Given the description of an element on the screen output the (x, y) to click on. 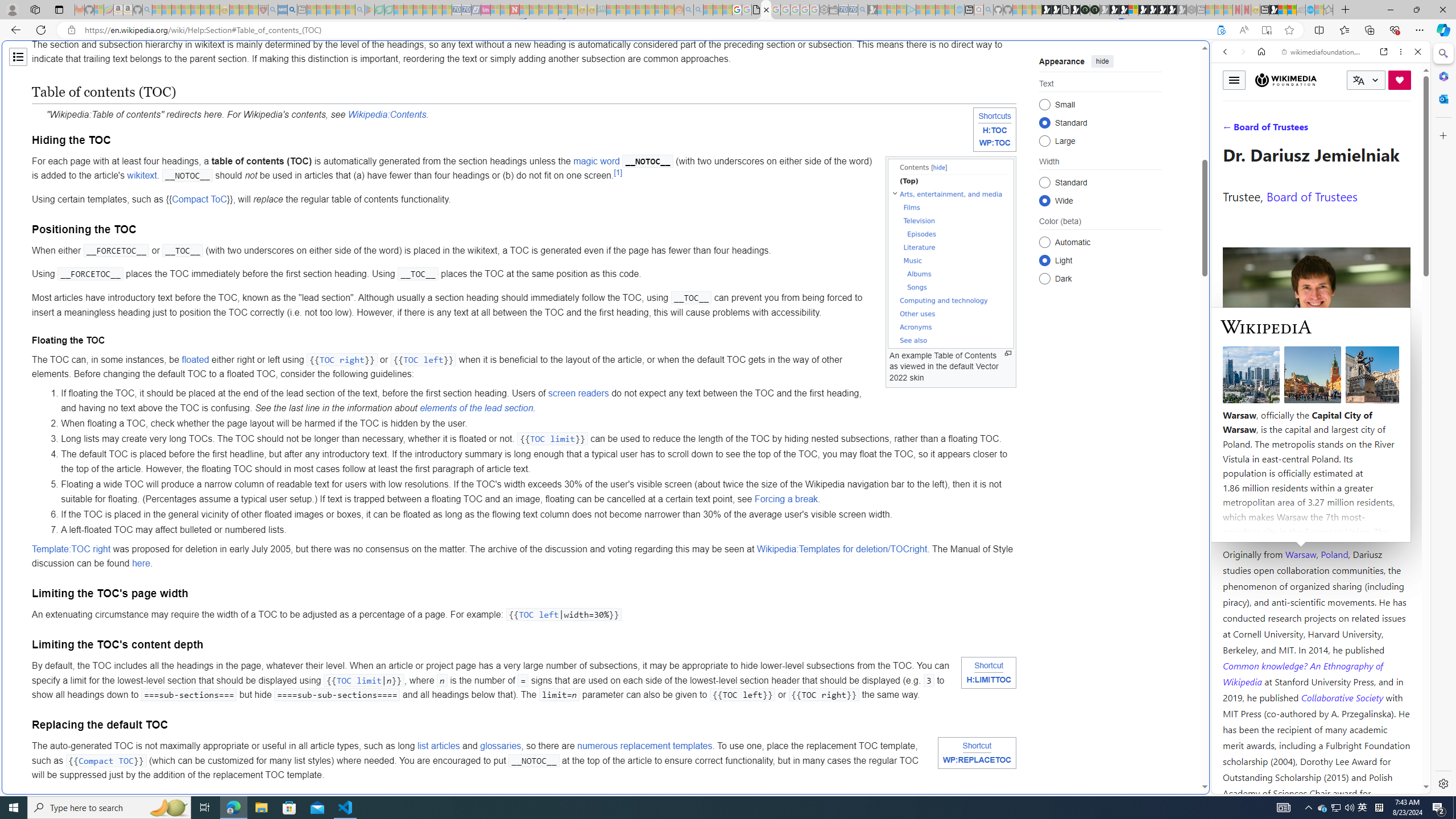
Latest Politics News & Archive | Newsweek.com - Sleeping (514, 9)
14 Common Myths Debunked By Scientific Facts - Sleeping (533, 9)
glossaries (500, 746)
Kinda Frugal - MSN - Sleeping (649, 9)
TOC right (341, 359)
Wide (1044, 200)
Template:TOC right (71, 548)
